Given the description of an element on the screen output the (x, y) to click on. 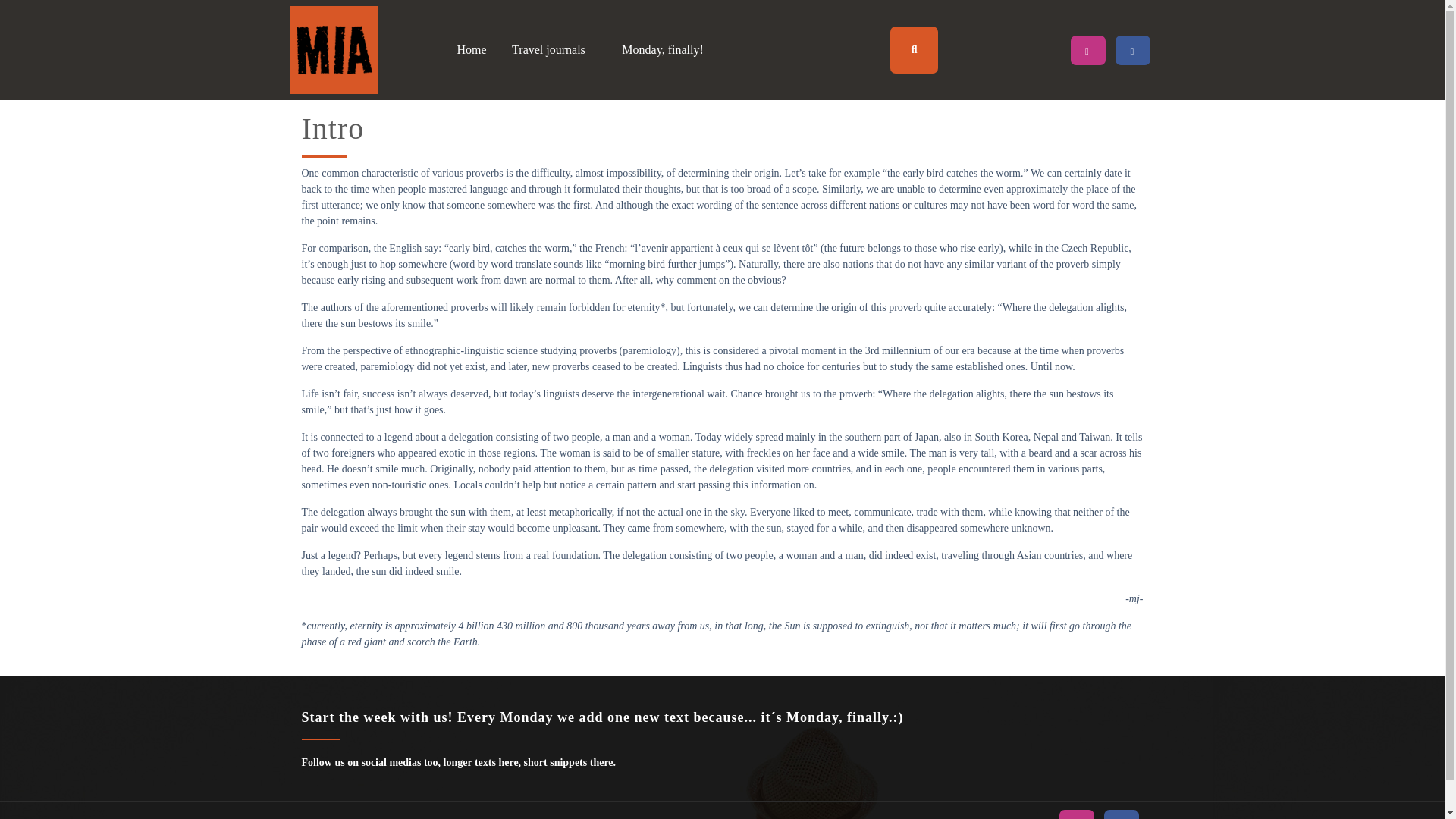
Themespride (700, 818)
Monday, finally! (662, 49)
Home (471, 49)
Travel journals (554, 49)
